Given the description of an element on the screen output the (x, y) to click on. 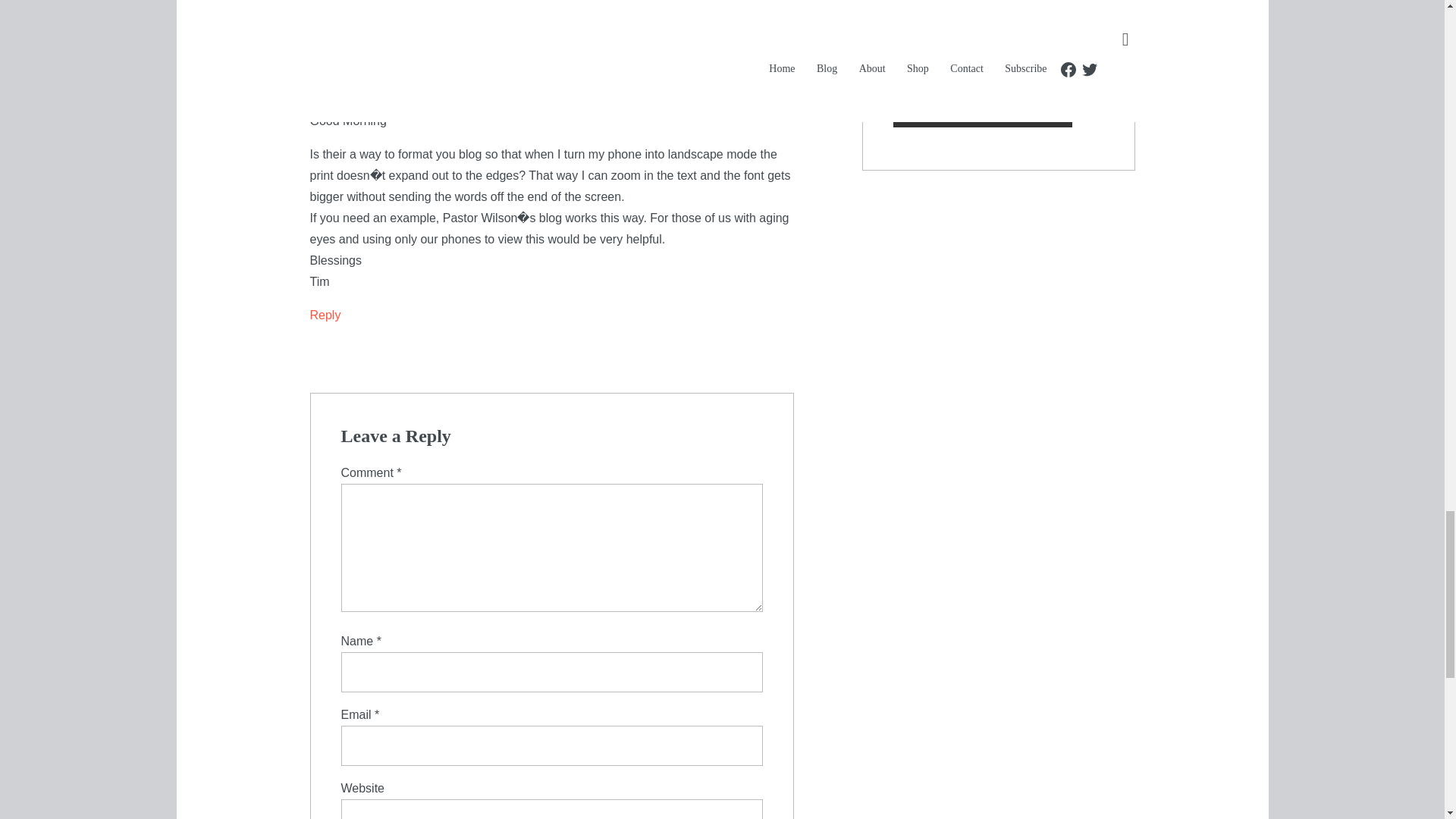
AUGUST 26, 2020 AT 6:33 AM (378, 84)
Reply (324, 314)
